Given the description of an element on the screen output the (x, y) to click on. 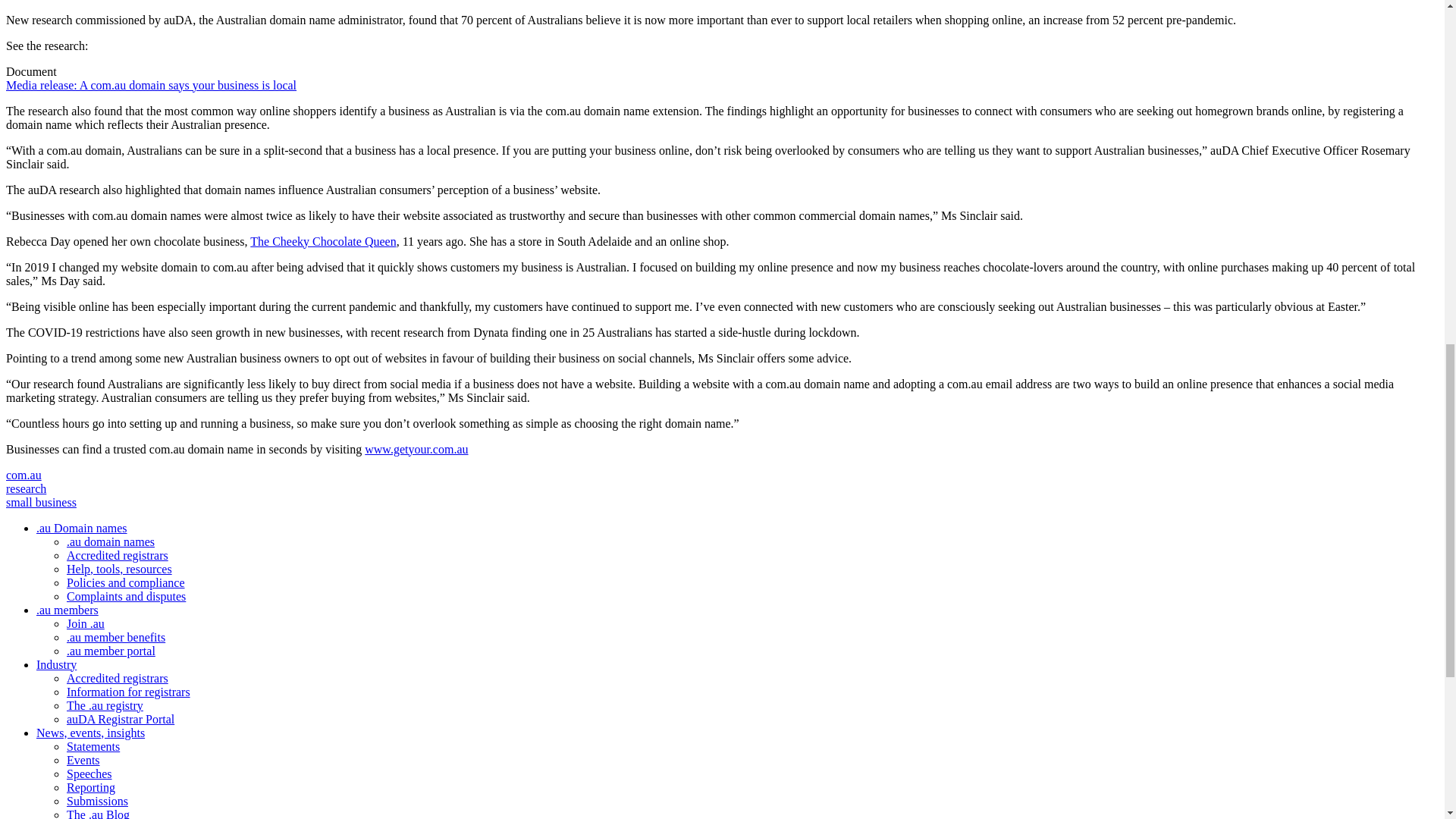
Become a .au member (85, 623)
Get Your com.au (416, 449)
The Cheeky Chocolate Queen (323, 241)
Learn about the different namespaces in .au (110, 541)
Information for .au registrars (128, 691)
Membership Benefits (115, 636)
Find a .au registrar (117, 554)
